Given the description of an element on the screen output the (x, y) to click on. 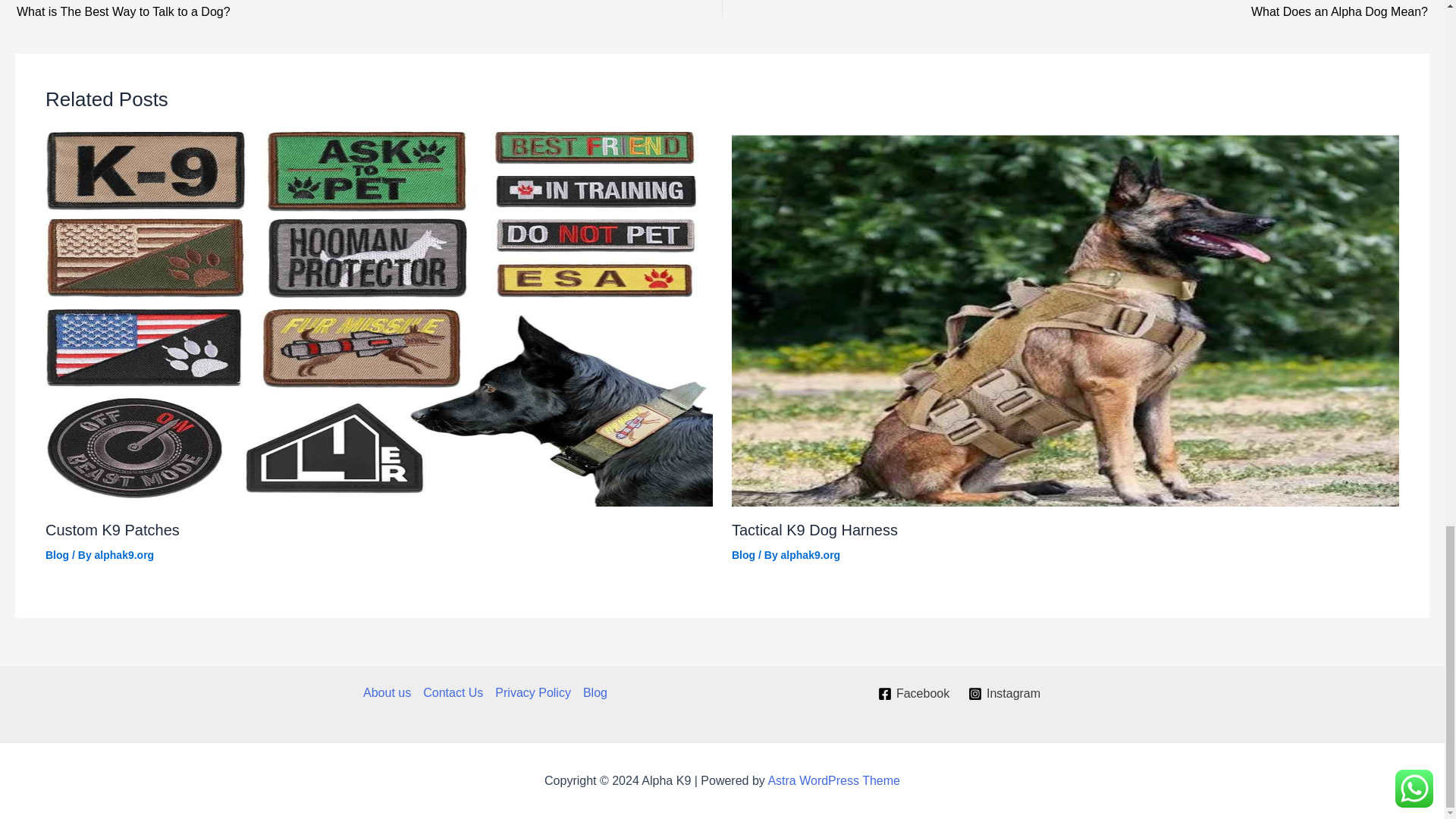
View all posts by alphak9.org (124, 554)
Privacy Policy (532, 692)
Blog (56, 554)
alphak9.org (810, 554)
Tactical K9 Dog Harness (815, 529)
Blog (743, 554)
alphak9.org (124, 554)
Contact Us (452, 692)
Facebook (299, 11)
What Does an Alpha Dog Mean? (914, 694)
View all posts by alphak9.org (1144, 11)
About us (1144, 11)
What is The Best Way to Talk to a Dog? (810, 554)
